Given the description of an element on the screen output the (x, y) to click on. 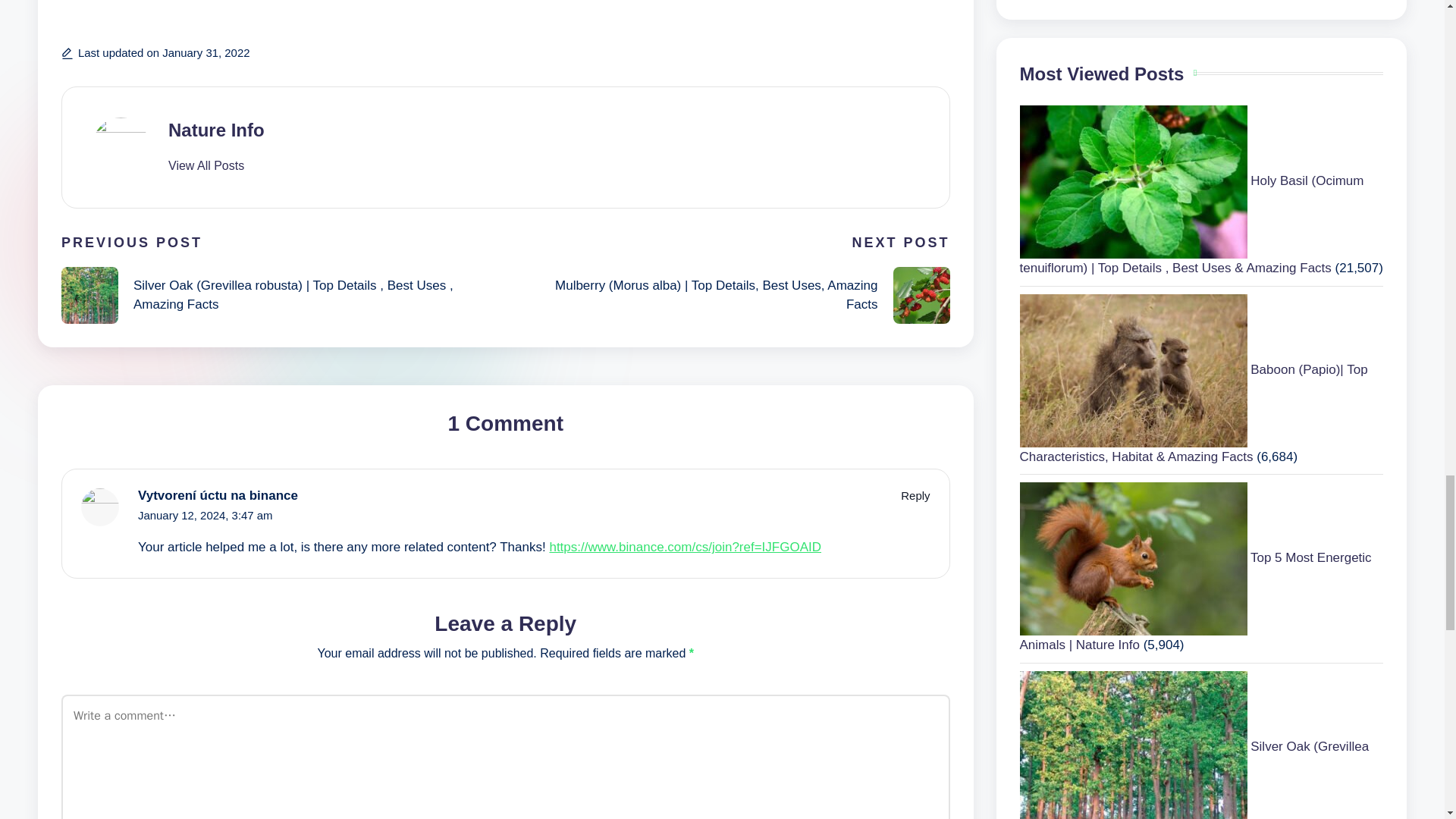
3:47 am (252, 514)
View All Posts (206, 165)
Reply (915, 495)
Nature Info (216, 129)
